Given the description of an element on the screen output the (x, y) to click on. 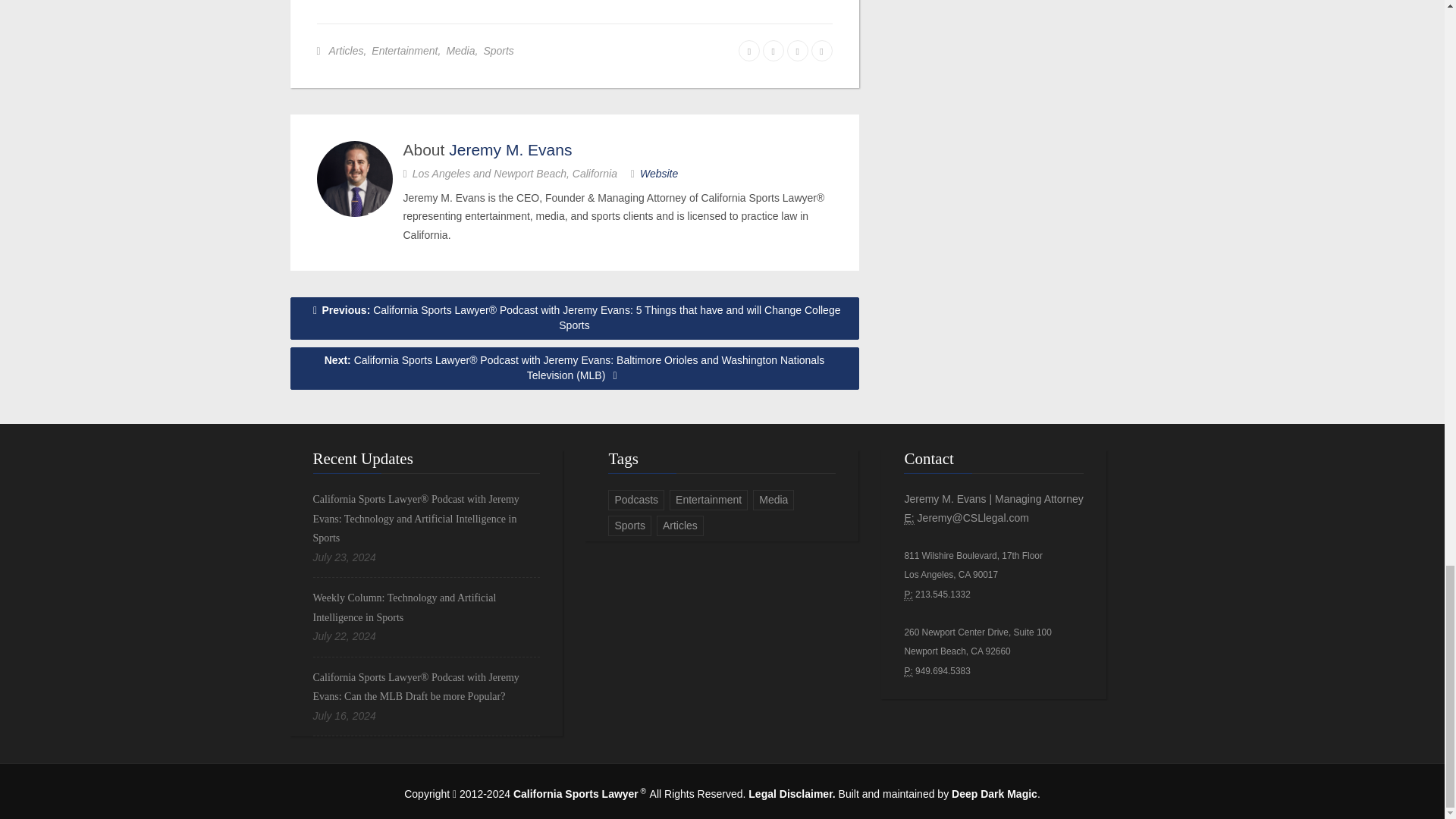
Entertainment (404, 50)
Articles (346, 50)
Media (459, 50)
Jeremy M. Evans (510, 149)
Sports (498, 50)
Website (659, 173)
